Given the description of an element on the screen output the (x, y) to click on. 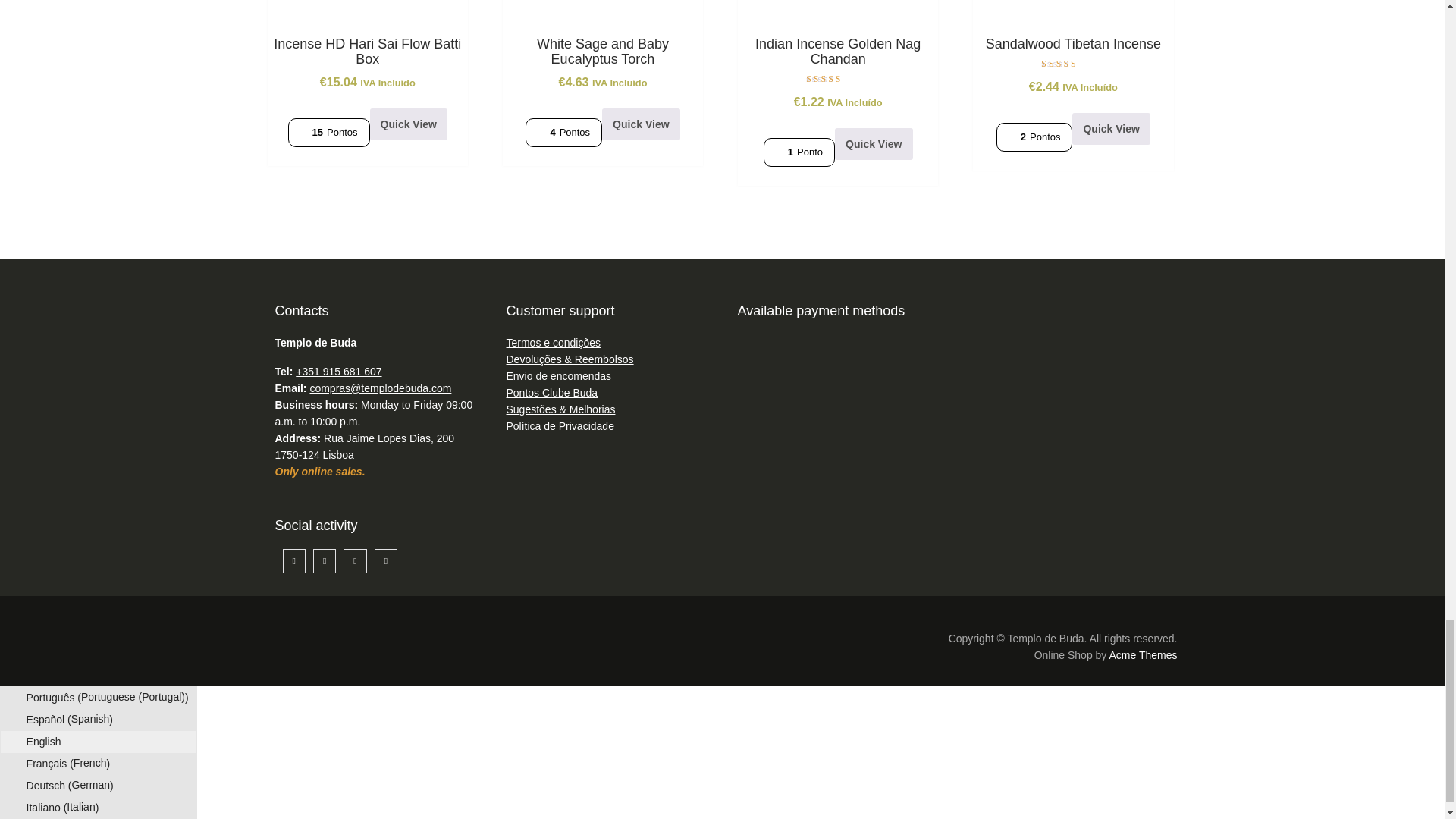
Envio de encomendas (558, 376)
